Given the description of an element on the screen output the (x, y) to click on. 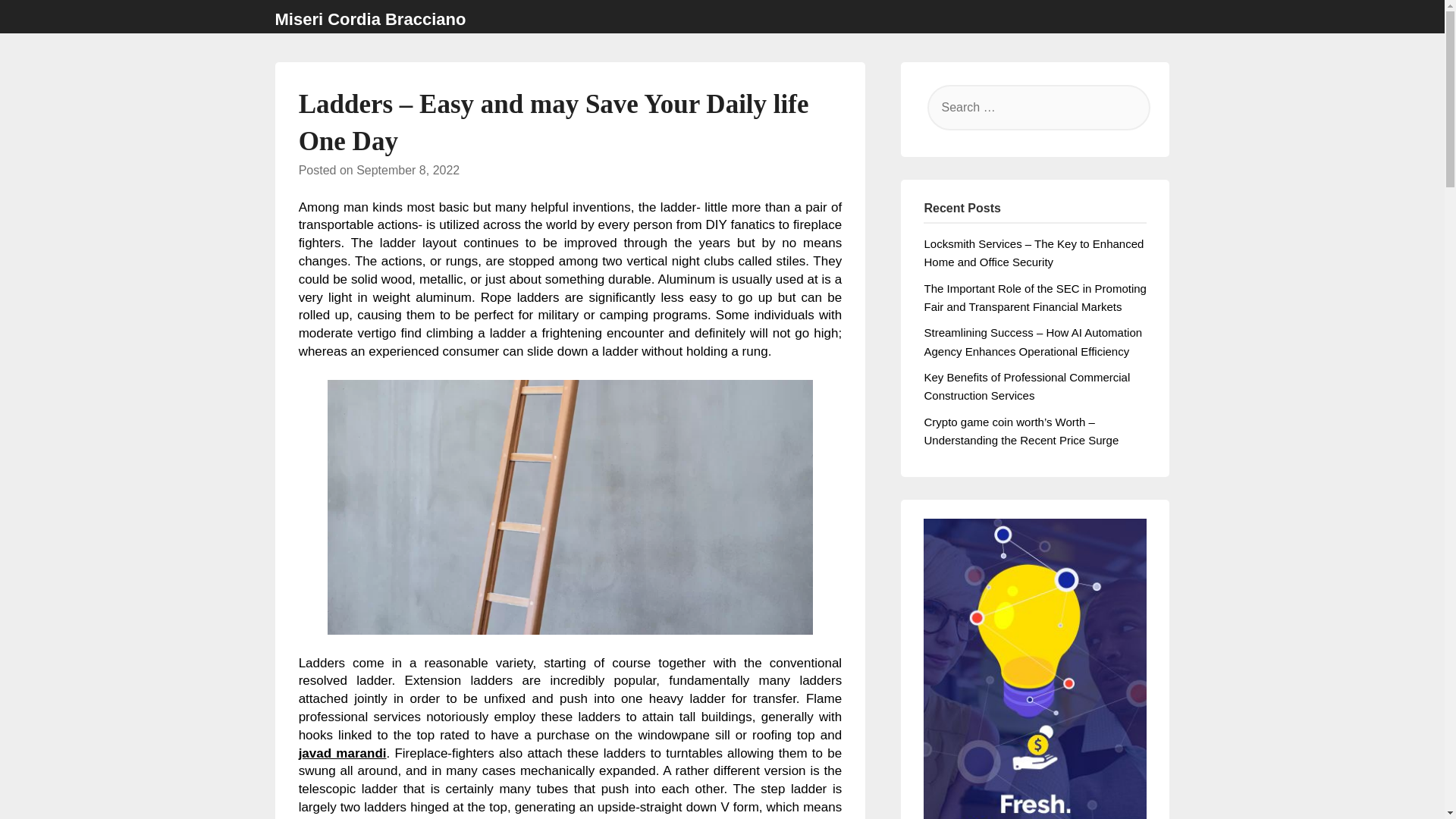
September 8, 2022 (408, 169)
Search (38, 22)
javad marandi (342, 753)
Miseri Cordia Bracciano (370, 19)
